Given the description of an element on the screen output the (x, y) to click on. 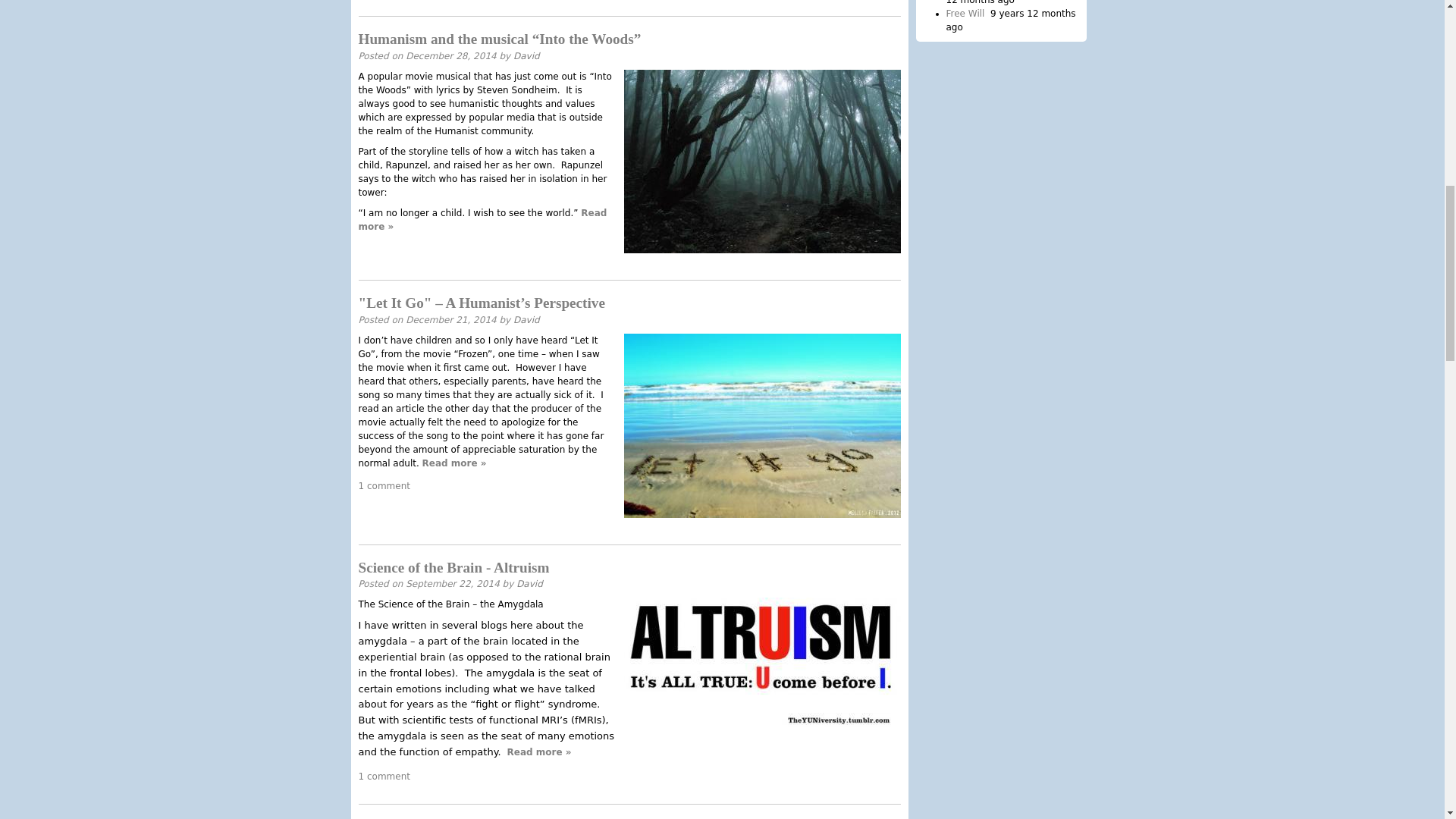
Woods (761, 161)
David (526, 318)
David (526, 55)
Altruism (761, 662)
David (529, 583)
Science of the Brain - Altruism (453, 567)
Jump to the first comment of this posting. (383, 485)
1 comment (383, 485)
Jump to the first comment of this posting. (383, 776)
1 comment (383, 776)
